Given the description of an element on the screen output the (x, y) to click on. 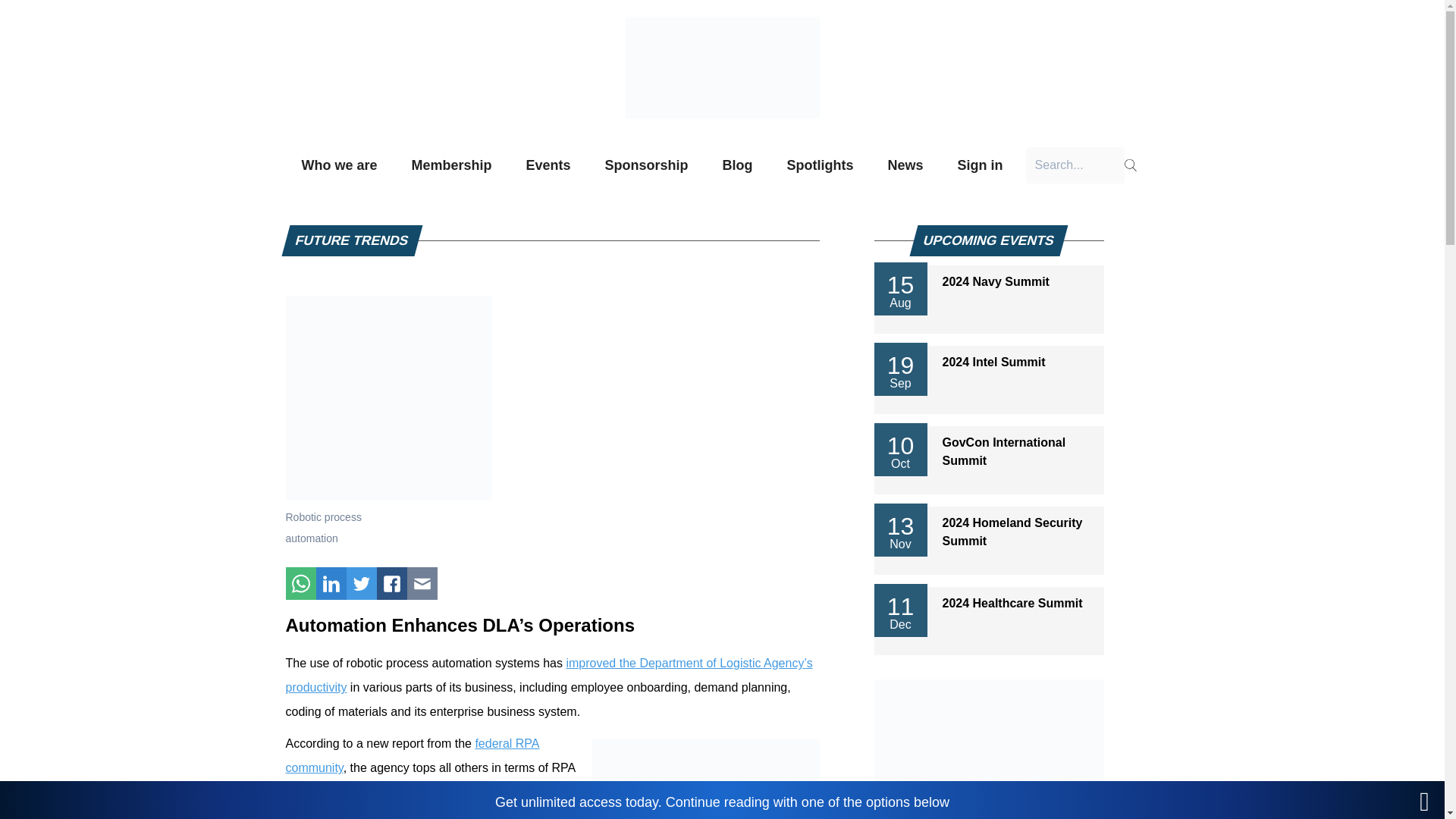
Sponsorship (647, 164)
Membership (450, 164)
federal RPA community (411, 755)
Sign in (980, 164)
Who we are (338, 164)
Blog (737, 164)
Events (546, 164)
Spotlights (820, 164)
News (905, 164)
